Given the description of an element on the screen output the (x, y) to click on. 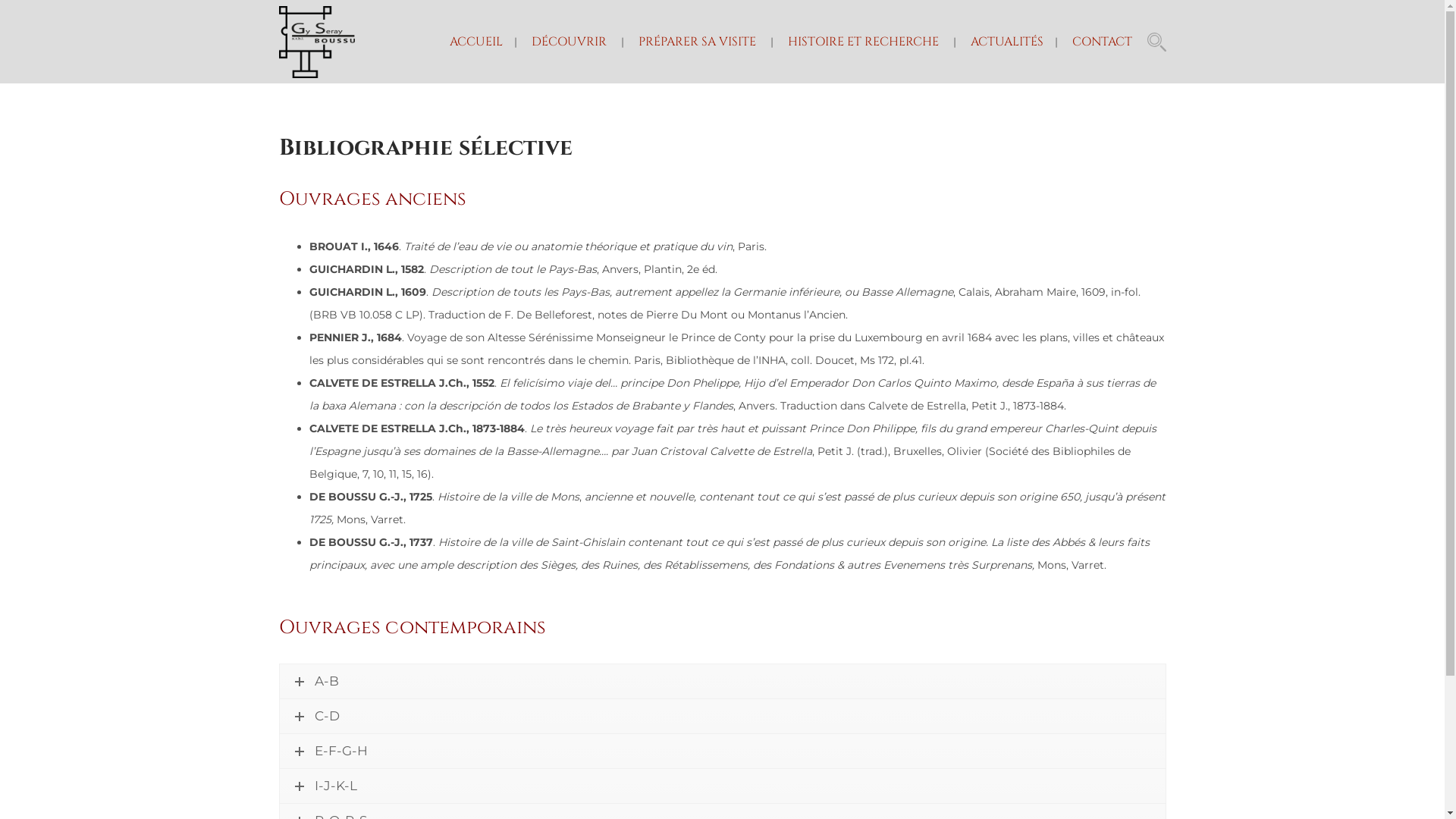
ACCUEIL Element type: text (475, 41)
A-B Element type: text (721, 681)
CONTACT Element type: text (1102, 41)
Chercher Element type: text (913, 410)
I-J-K-L Element type: text (721, 785)
C-D Element type: text (721, 716)
HISTOIRE ET RECHERCHE Element type: text (862, 41)
E-F-G-H Element type: text (721, 751)
